Given the description of an element on the screen output the (x, y) to click on. 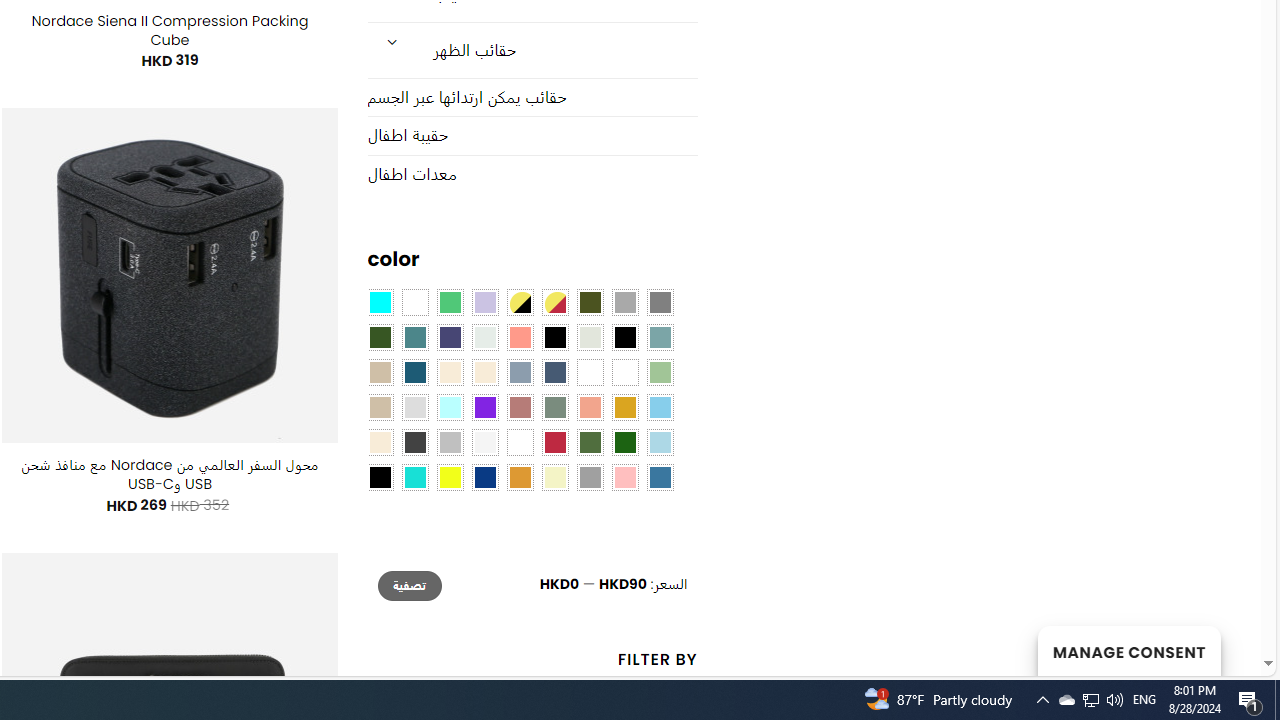
Light Purple (484, 303)
Clear (414, 303)
Cream (484, 372)
Light Taupe (379, 408)
